Given the description of an element on the screen output the (x, y) to click on. 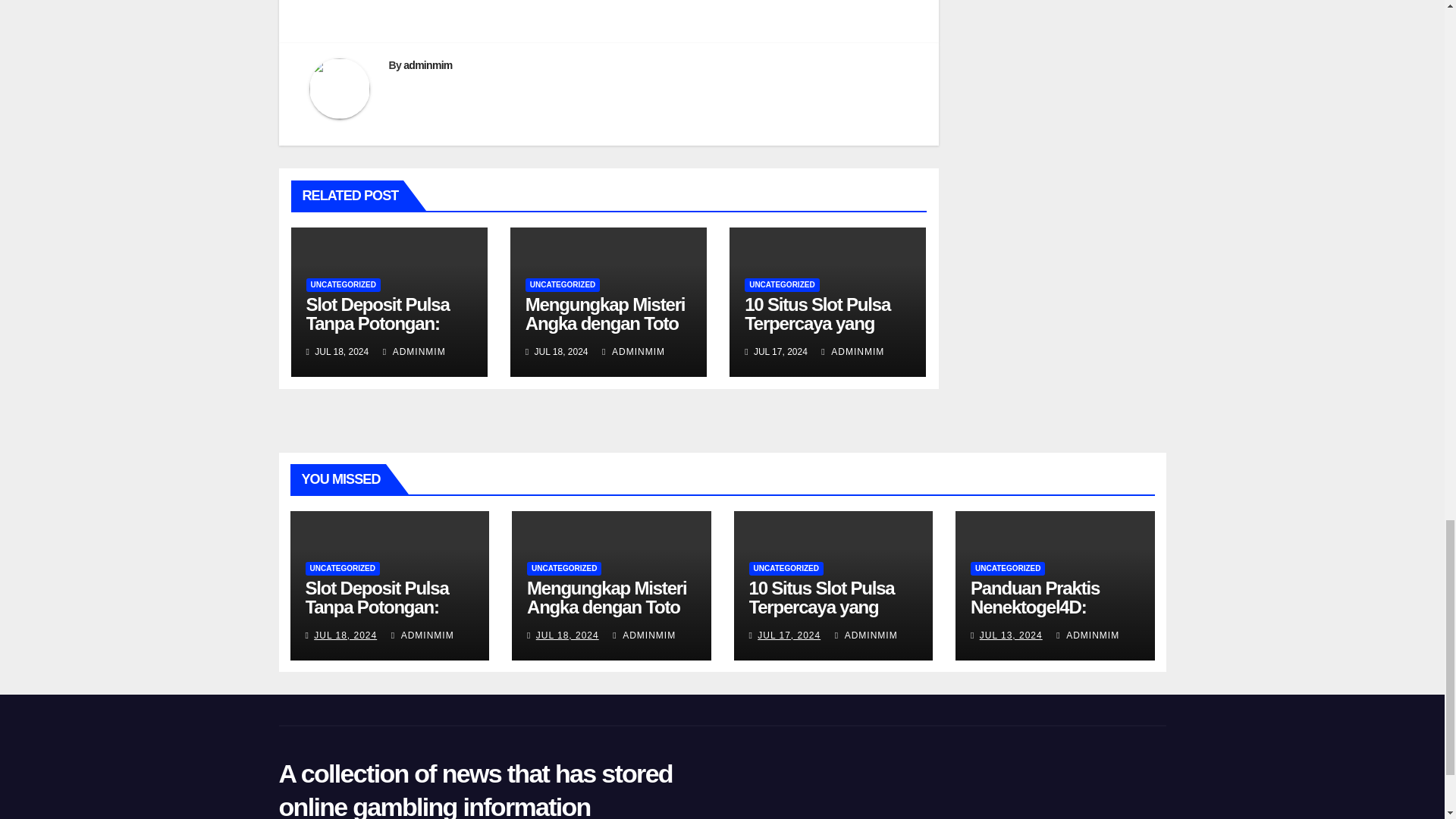
ADMINMIM (413, 351)
10 Situs Slot Pulsa Terpercaya yang Harus Anda Coba Sekarang (816, 332)
UNCATEGORIZED (562, 284)
UNCATEGORIZED (342, 284)
ADMINMIM (633, 351)
ADMINMIM (852, 351)
